Given the description of an element on the screen output the (x, y) to click on. 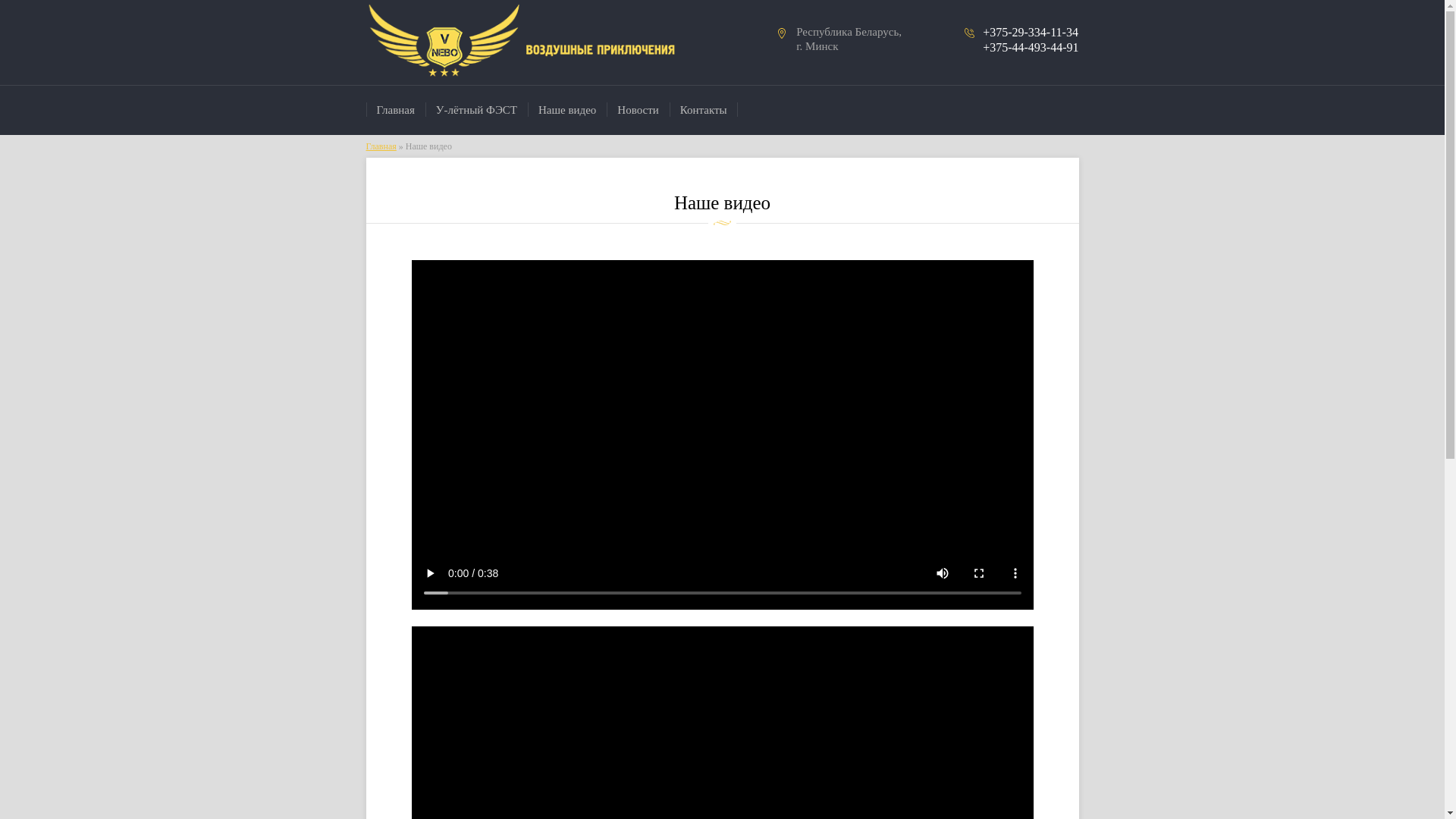
+375-29-334-11-34 Element type: text (1030, 31)
+375-44-493-44-91 Element type: text (1030, 46)
